Given the description of an element on the screen output the (x, y) to click on. 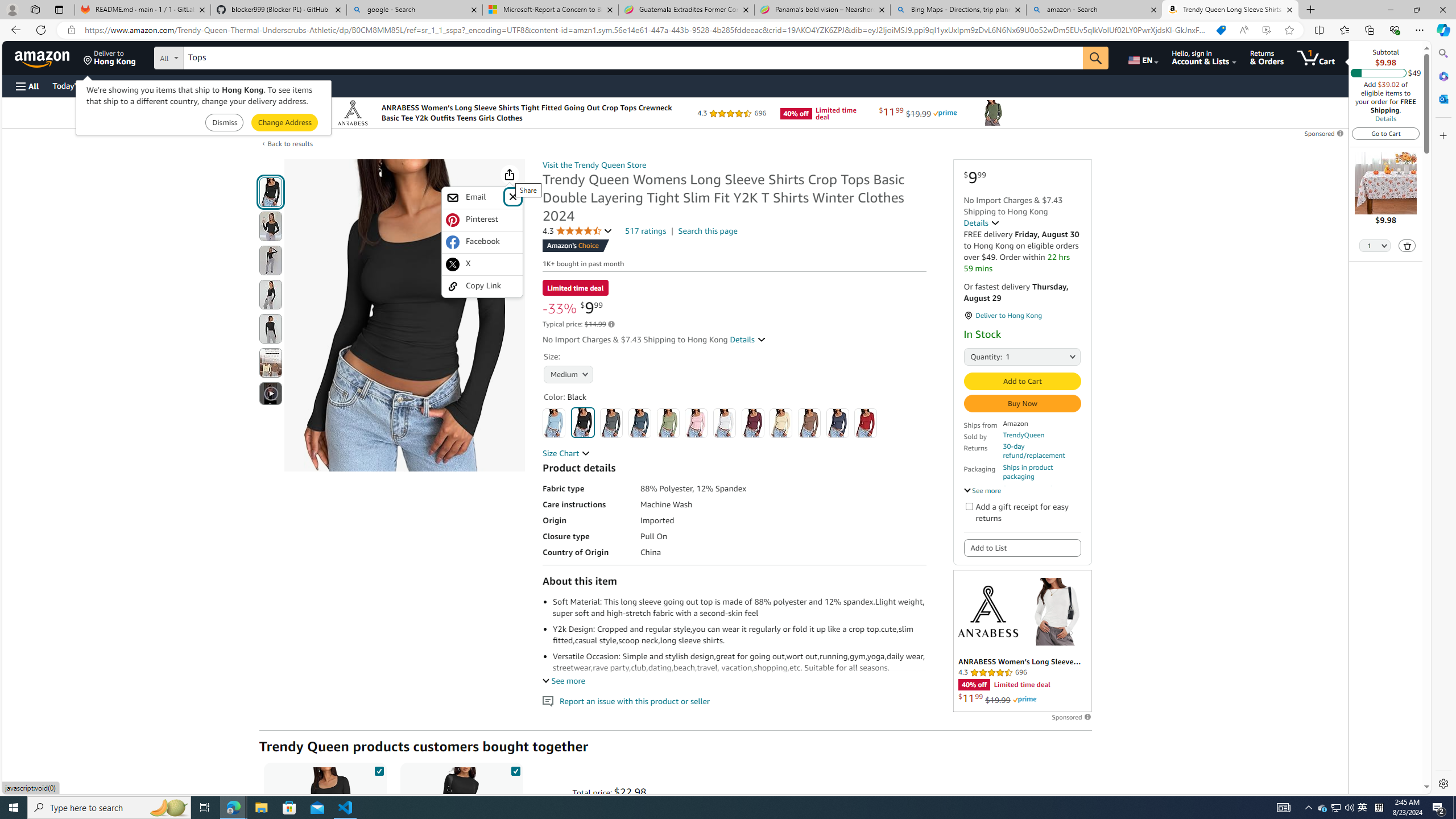
Red (865, 422)
Copy Link (482, 286)
Secure transaction (1032, 488)
Buy Now (1021, 403)
Registry (205, 85)
Facebook (482, 241)
TrendyQueen (1024, 434)
AutomationID: thematicBundleCheck-2 (515, 768)
